Given the description of an element on the screen output the (x, y) to click on. 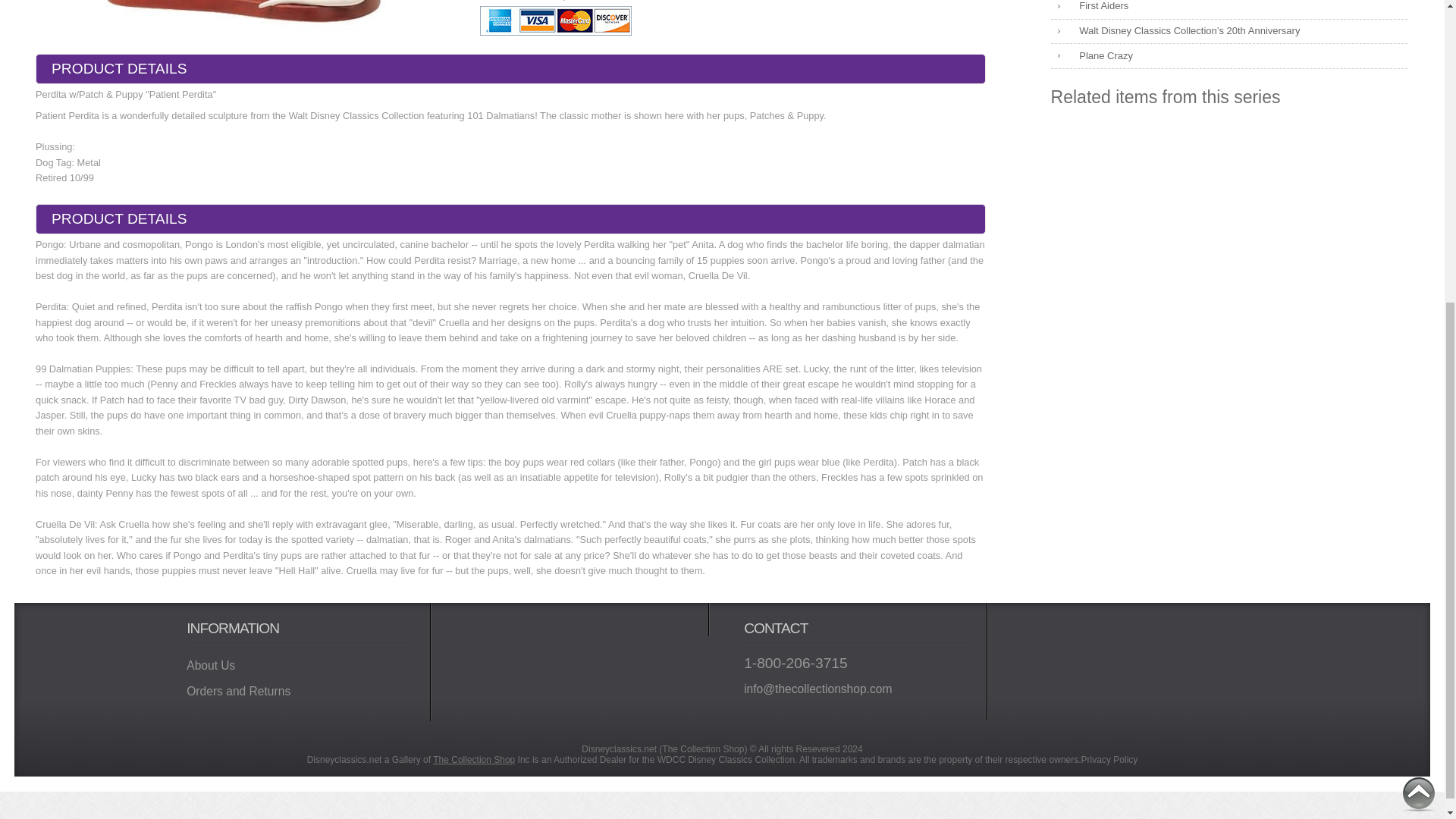
Orders and Returns (299, 691)
About Us (299, 664)
Plane Crazy (1229, 56)
The Collection Shop (473, 759)
First Aiders (1229, 9)
